Given the description of an element on the screen output the (x, y) to click on. 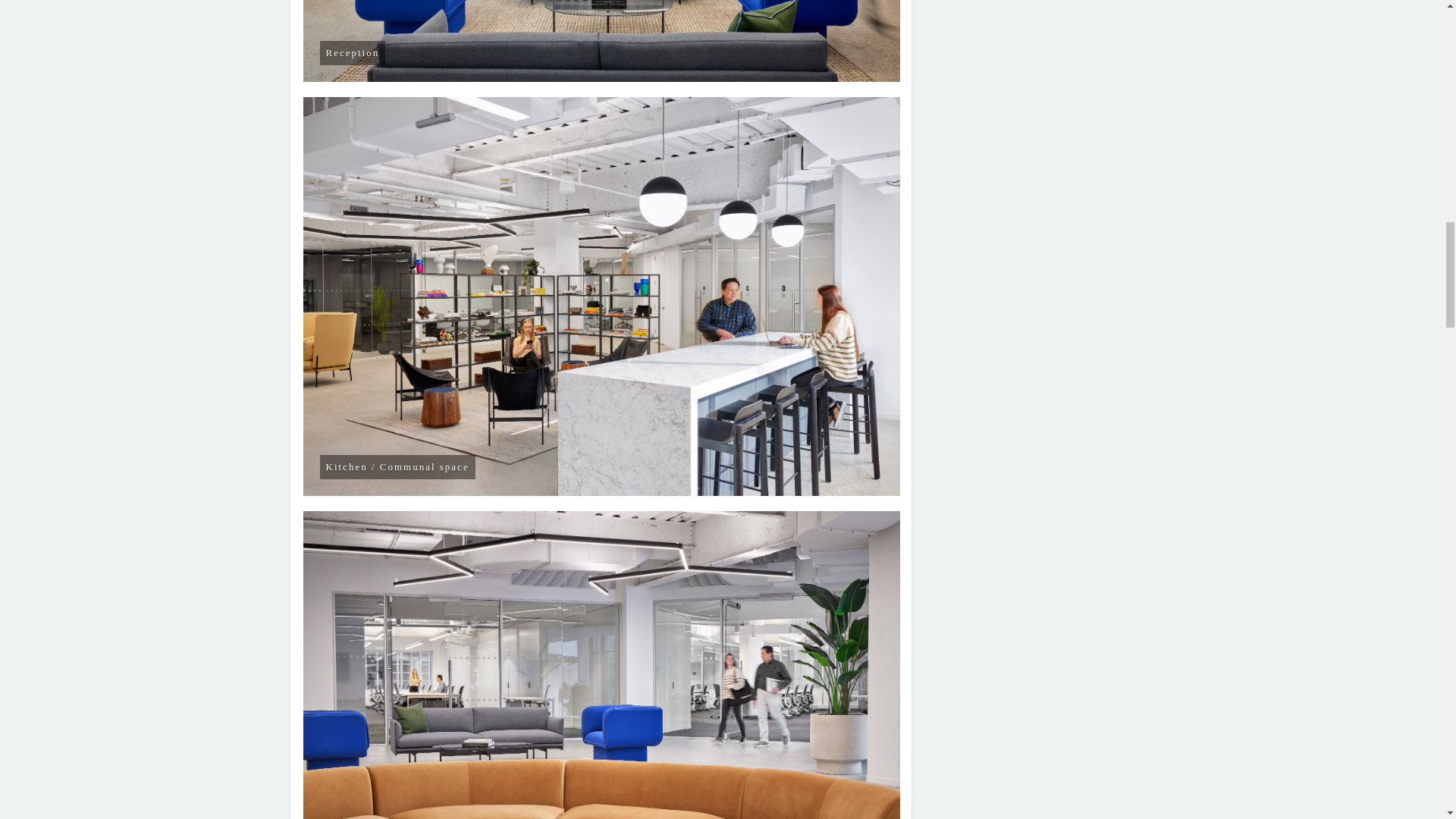
Reception (601, 40)
